Given the description of an element on the screen output the (x, y) to click on. 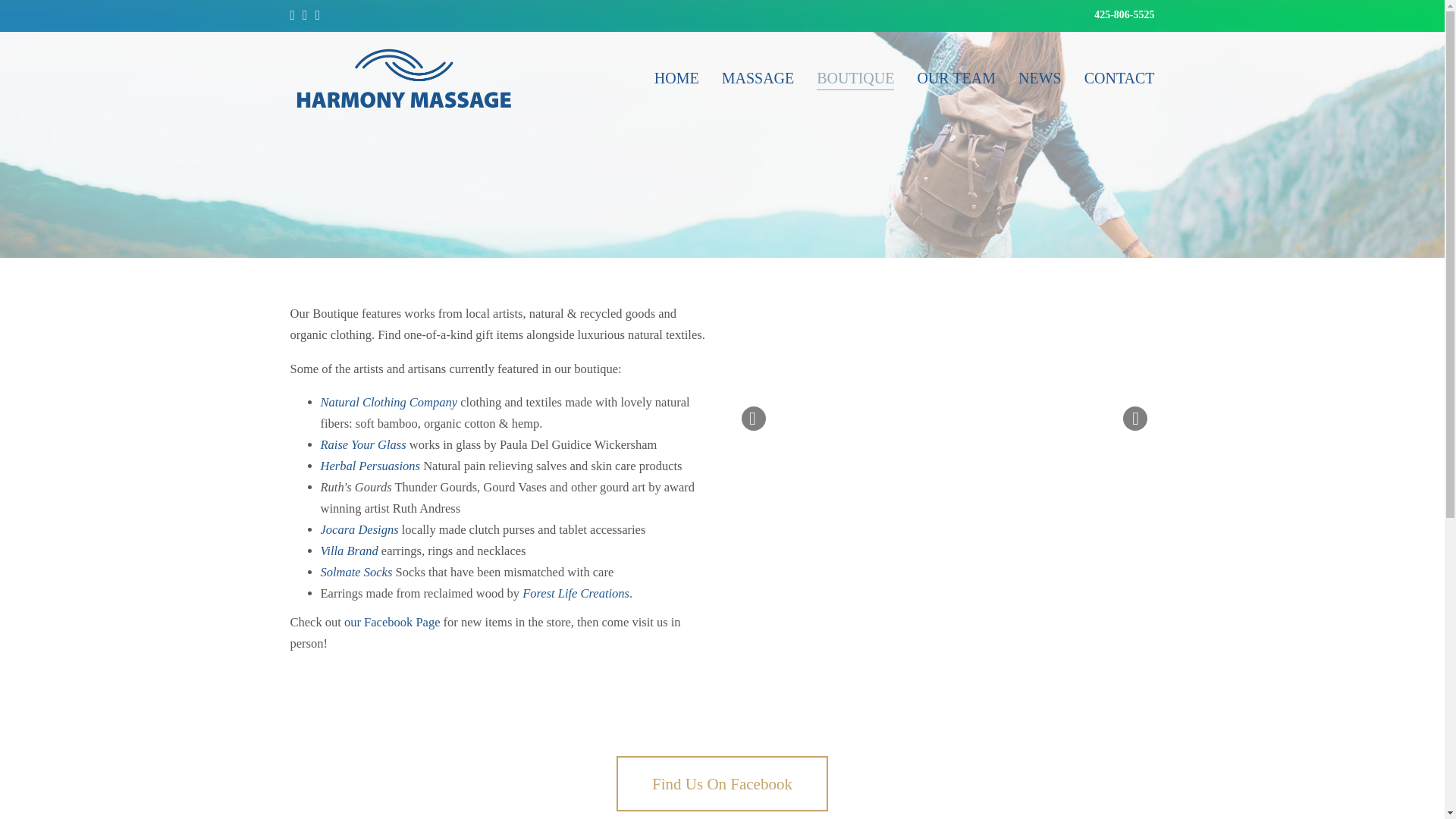
2 (978, 517)
BOUTIQUE (854, 78)
Jocara Designs (358, 529)
CONTACT (1119, 78)
Villa Brand (348, 550)
OUR TEAM (956, 78)
Natural Clothing Company (388, 401)
HOME (675, 78)
425-806-5525 (1124, 14)
Herbal Persuasions (370, 465)
